Given the description of an element on the screen output the (x, y) to click on. 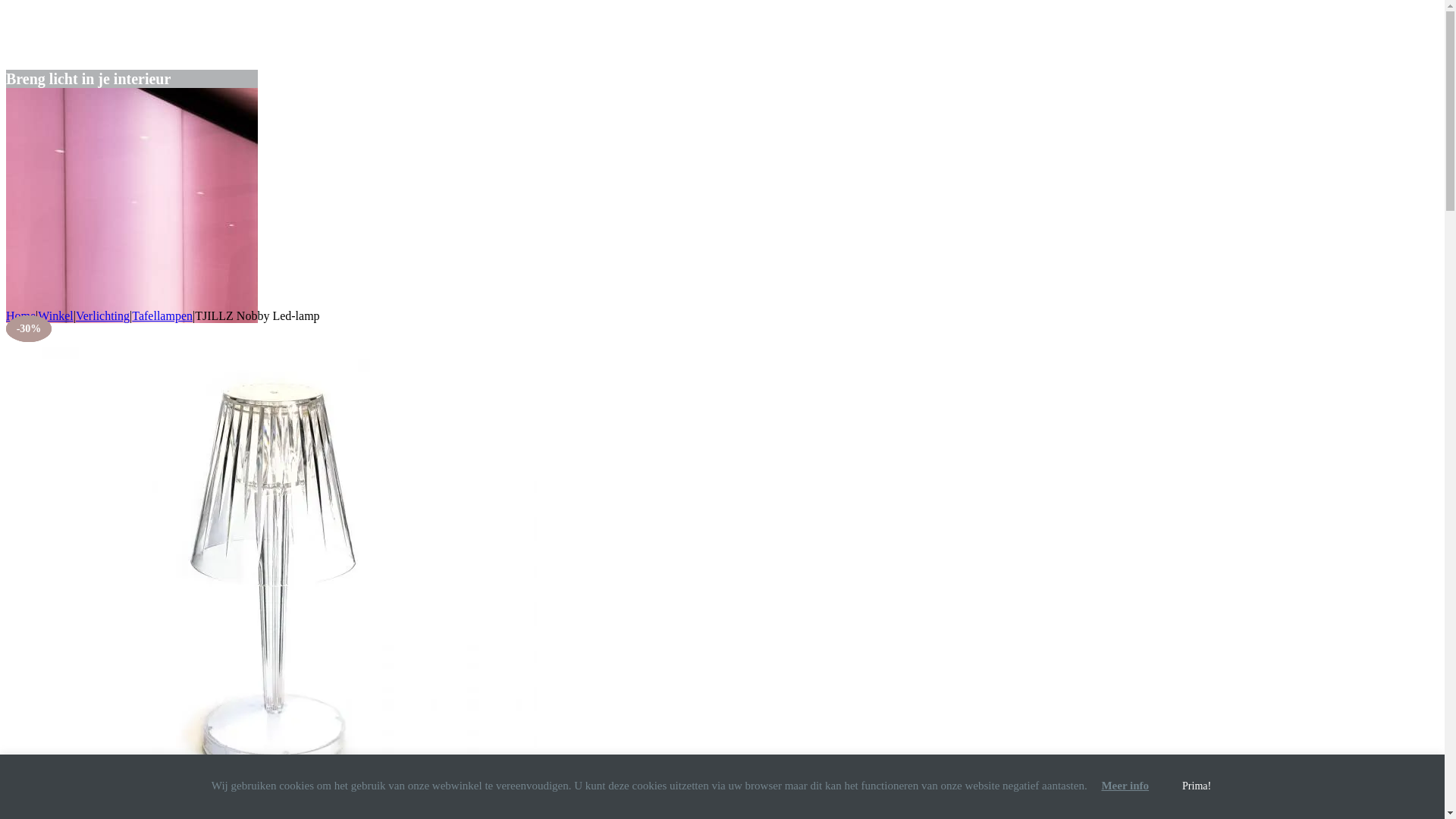
Home Element type: text (20, 315)
Verlichting Element type: text (102, 315)
Meer info Element type: text (1124, 785)
Tafellampen Element type: text (161, 315)
Ga naar inhoud Element type: text (5, 5)
Winkel Element type: text (54, 315)
Prima! Element type: text (1196, 786)
